Given the description of an element on the screen output the (x, y) to click on. 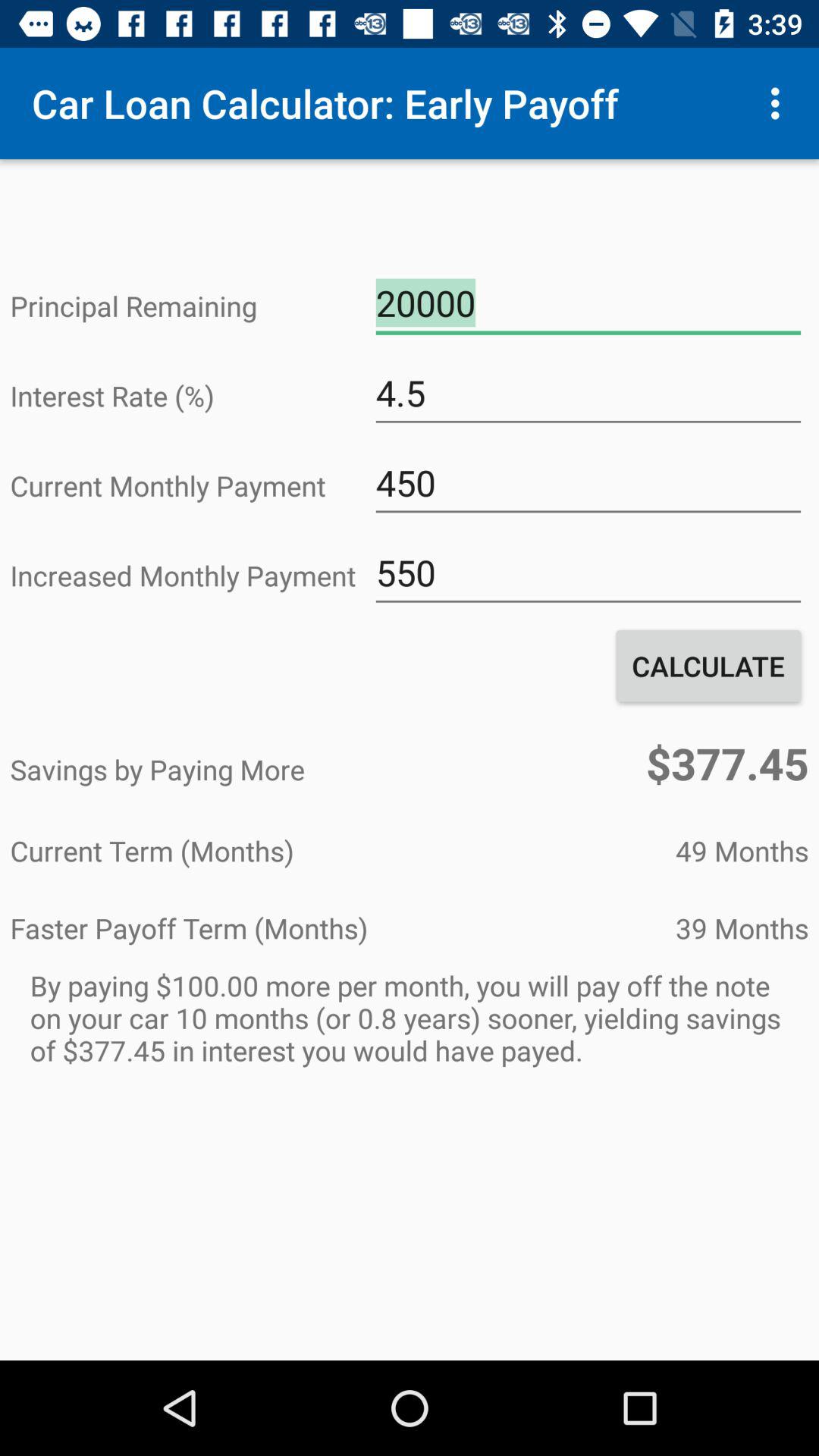
launch 20000 (587, 303)
